Given the description of an element on the screen output the (x, y) to click on. 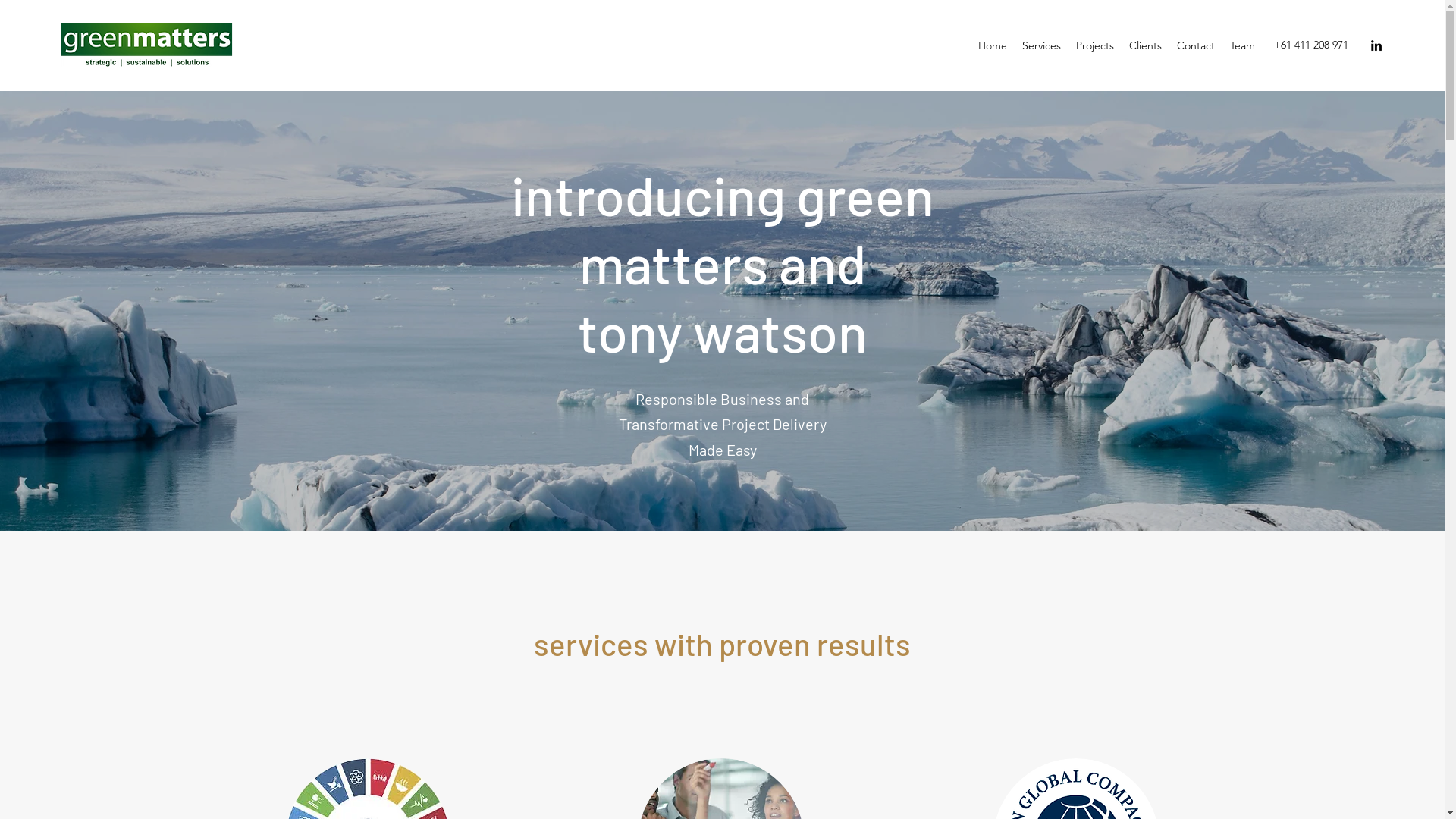
Projects Element type: text (1094, 45)
Team Element type: text (1242, 45)
Clients Element type: text (1145, 45)
Services Element type: text (1041, 45)
Contact Element type: text (1195, 45)
Home Element type: text (992, 45)
